Given the description of an element on the screen output the (x, y) to click on. 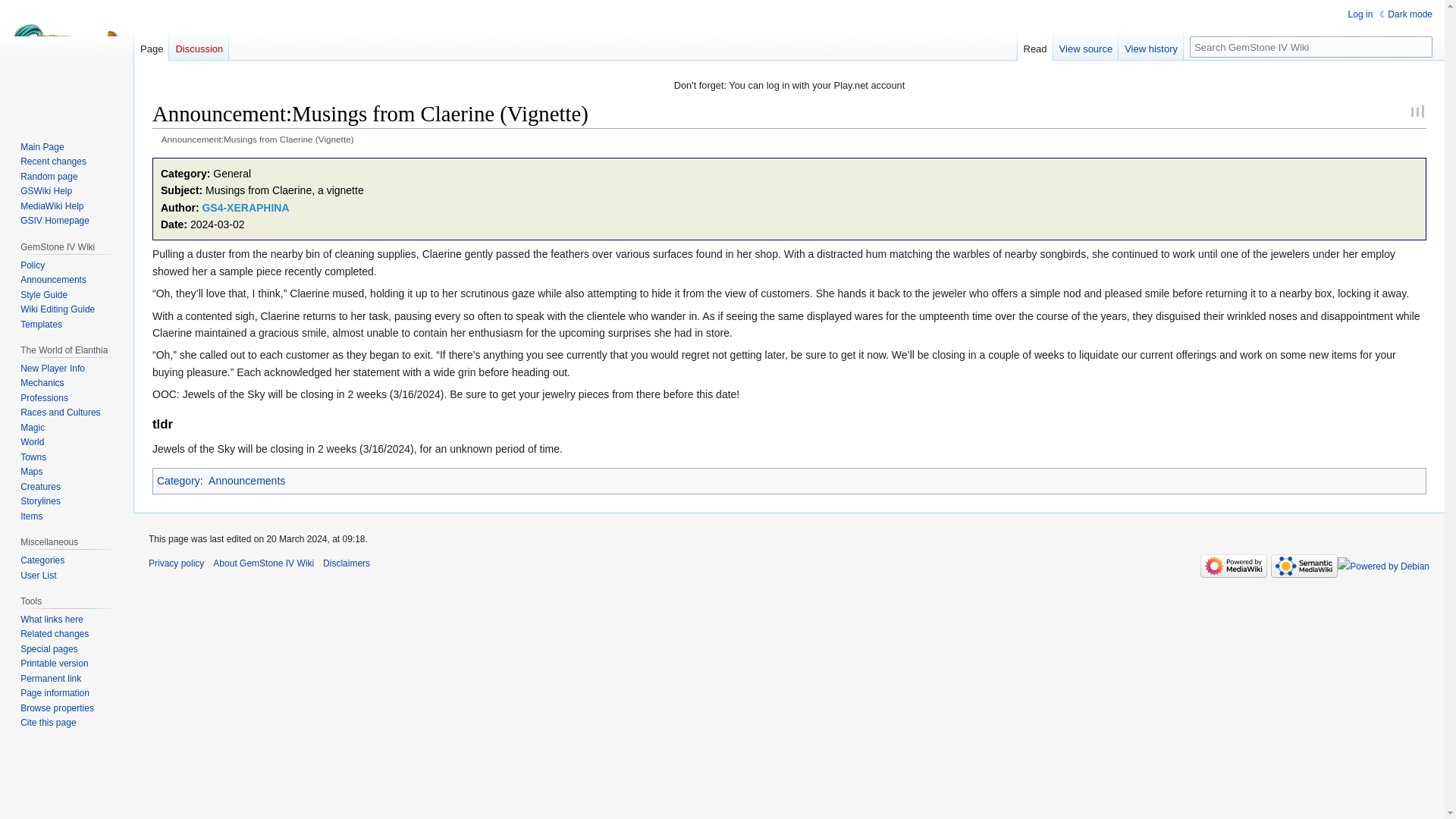
Search the pages for this text (1420, 46)
MediaWiki Help (51, 205)
World (31, 441)
Categories (42, 560)
Main Page (42, 146)
Announcements (246, 480)
GSIV Homepage (54, 220)
Category:Announcements (246, 480)
Search (1420, 46)
View history (1150, 45)
Maps (31, 471)
Creatures (40, 486)
Random page (48, 176)
Dark mode (1405, 14)
